Given the description of an element on the screen output the (x, y) to click on. 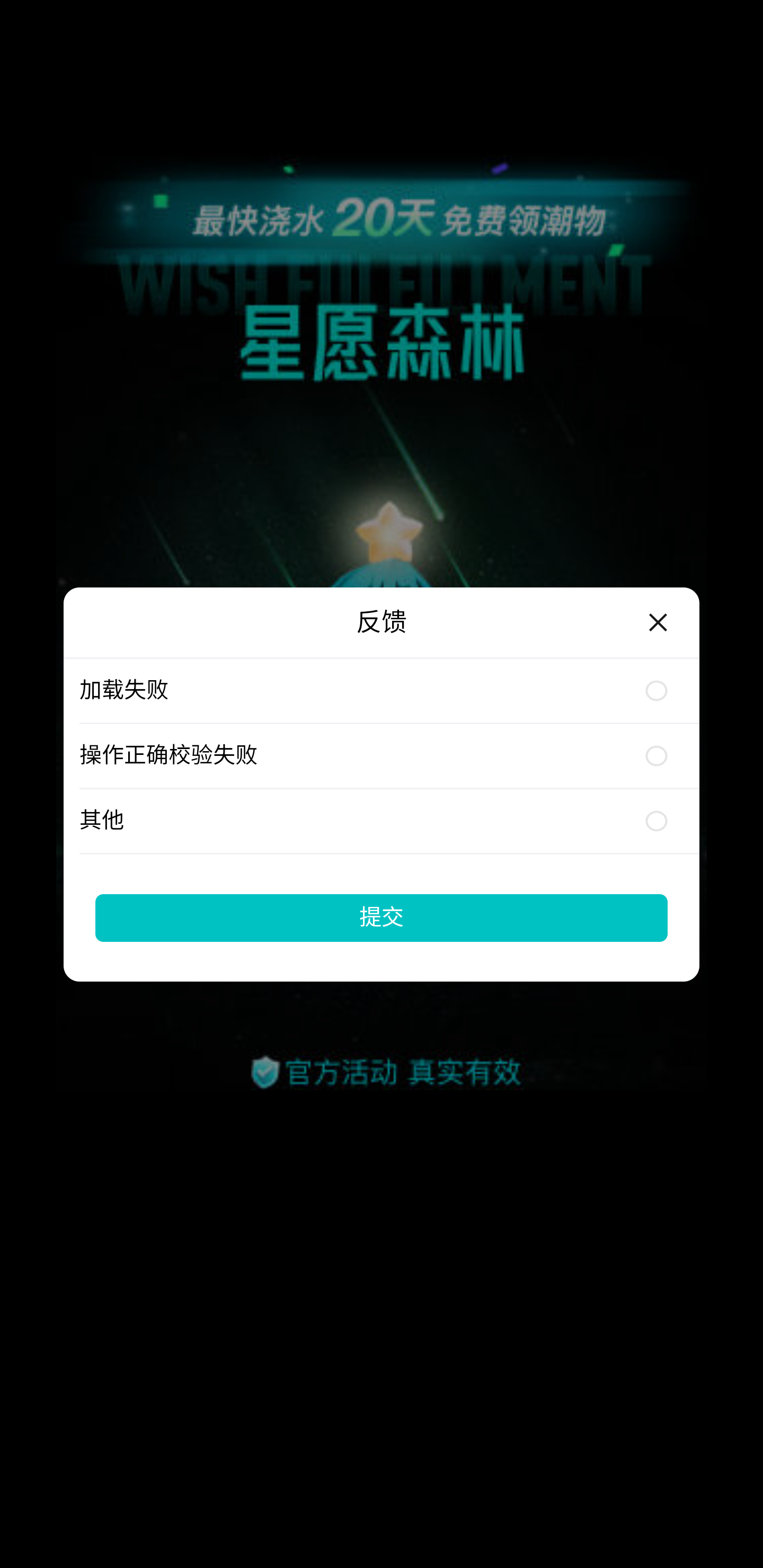
提交 (381, 917)
